Given the description of an element on the screen output the (x, y) to click on. 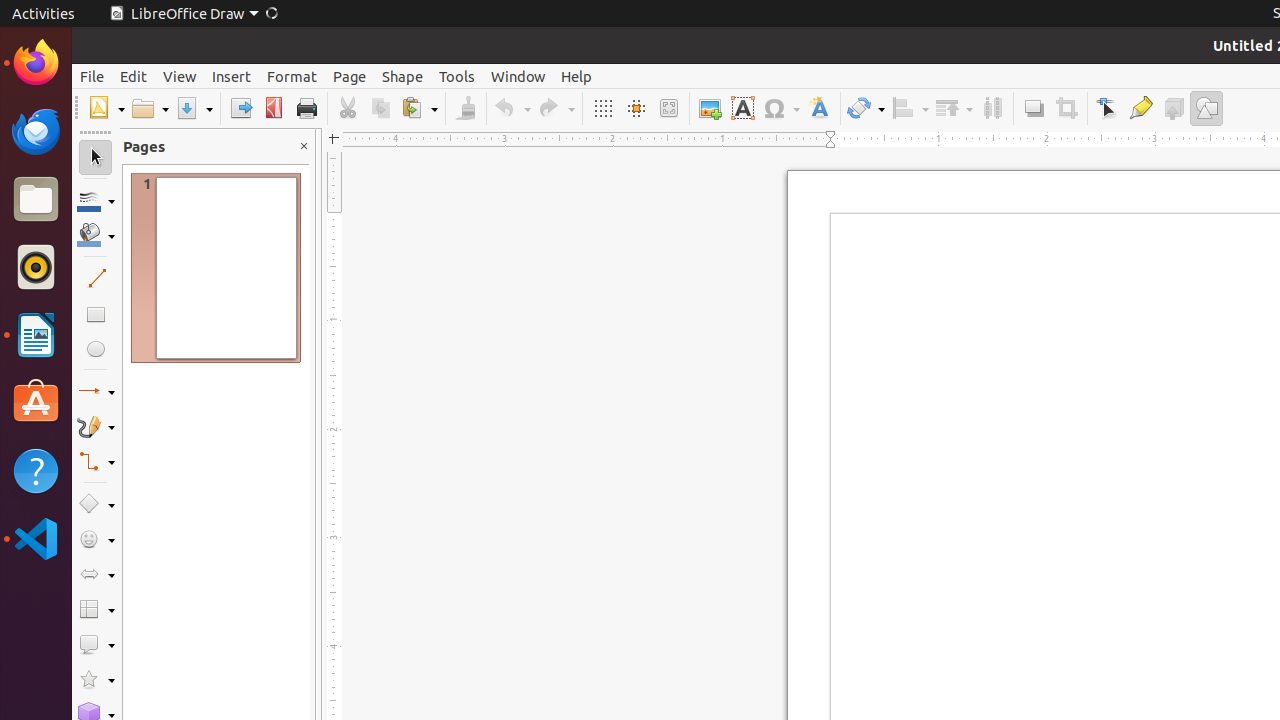
Clone Element type: push-button (465, 108)
Curves and Polygons Element type: push-button (96, 426)
Shadow Element type: toggle-button (1033, 108)
Star Shapes Element type: push-button (96, 679)
Save Element type: push-button (194, 108)
